Given the description of an element on the screen output the (x, y) to click on. 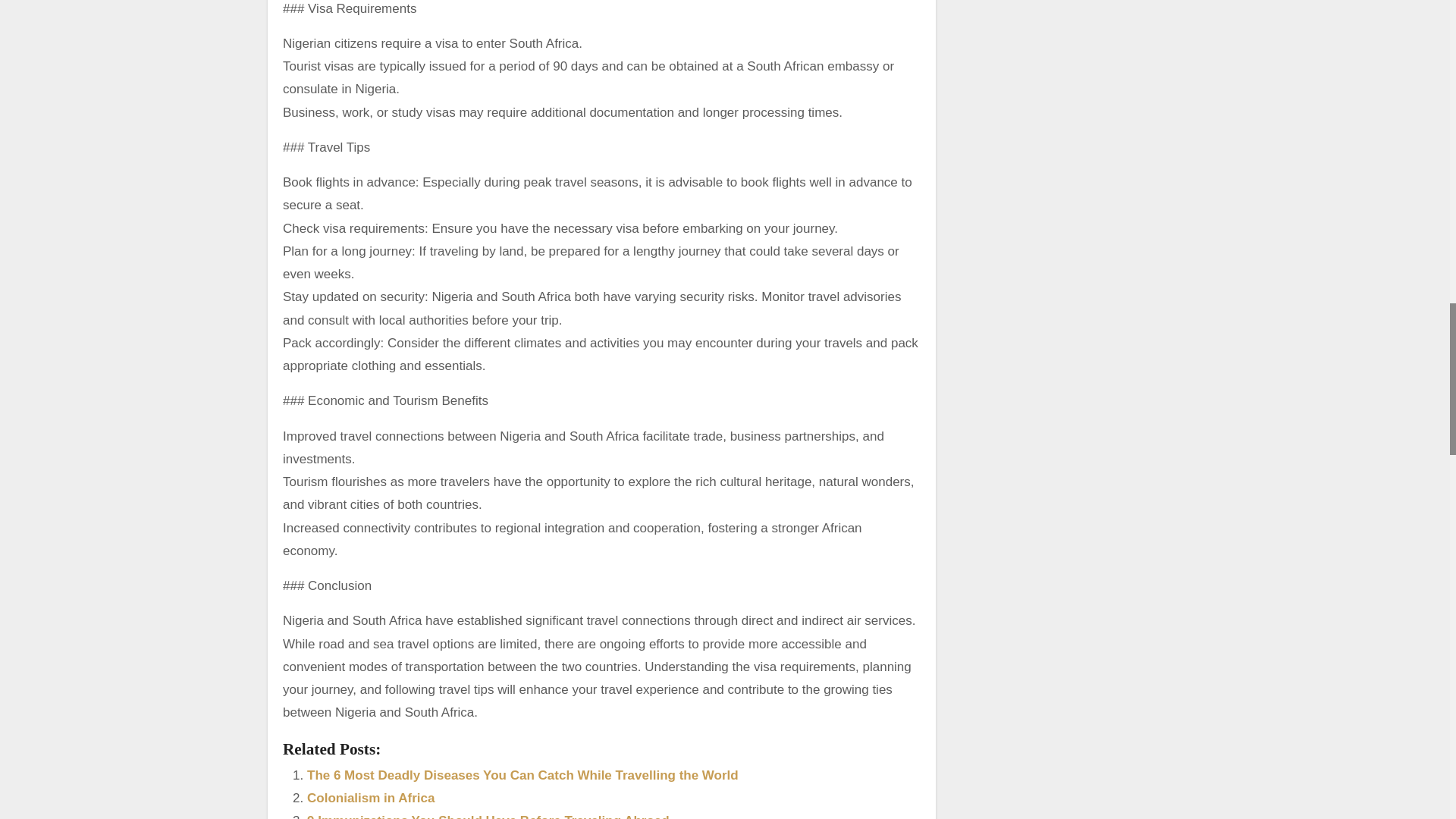
Colonialism in Africa (370, 798)
9 Immunizations You Should Have Before Traveling Abroad (488, 816)
